Given the description of an element on the screen output the (x, y) to click on. 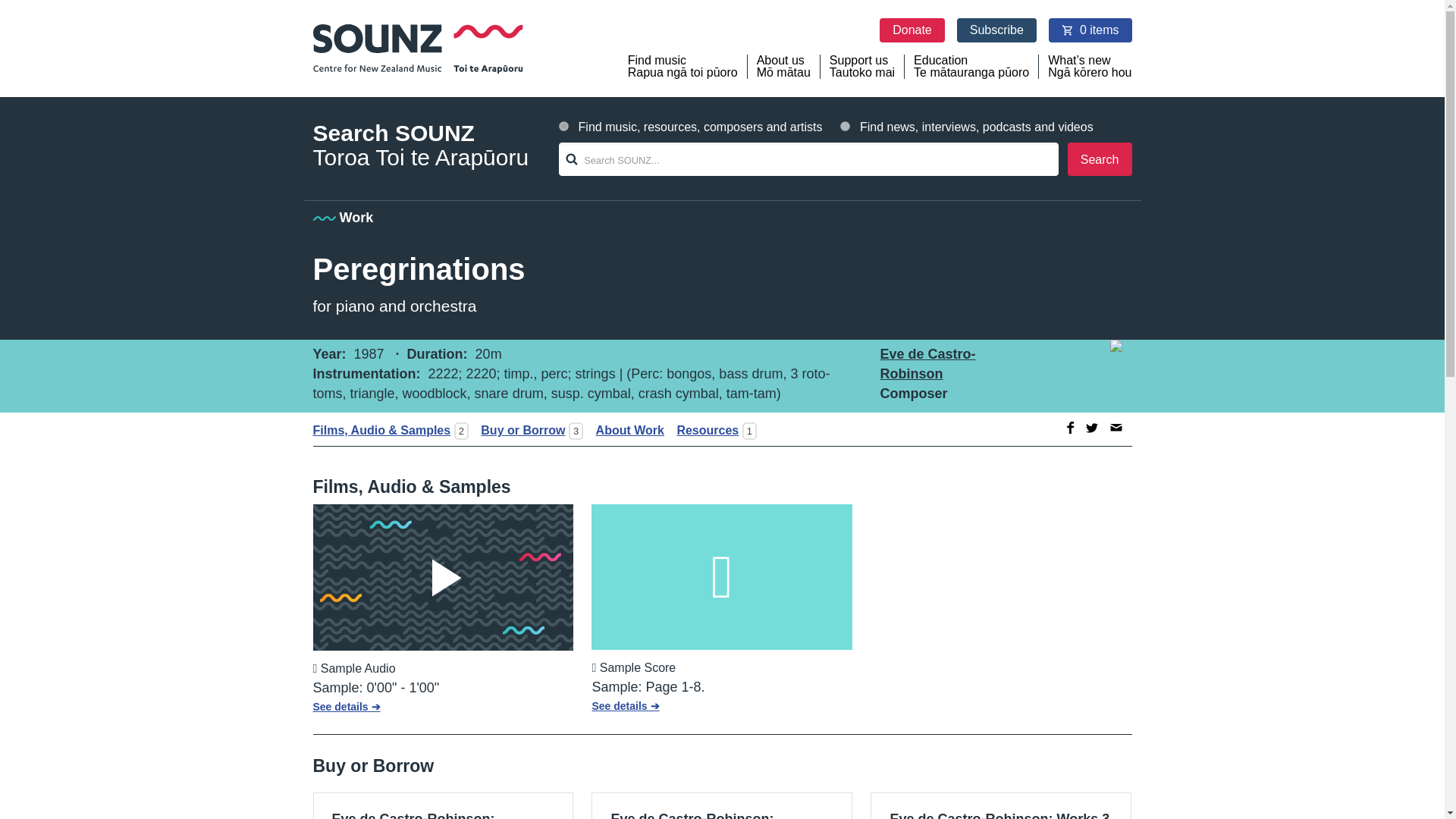
Donate (862, 66)
0 items (1000, 805)
Subscribe (911, 30)
Buy or Borrow (1090, 30)
Share to Twitter (996, 30)
Play Video (721, 805)
Play Video (517, 430)
Eve de Castro-Robinson (1091, 427)
content (442, 577)
Search (442, 577)
catalogue (927, 363)
